Given the description of an element on the screen output the (x, y) to click on. 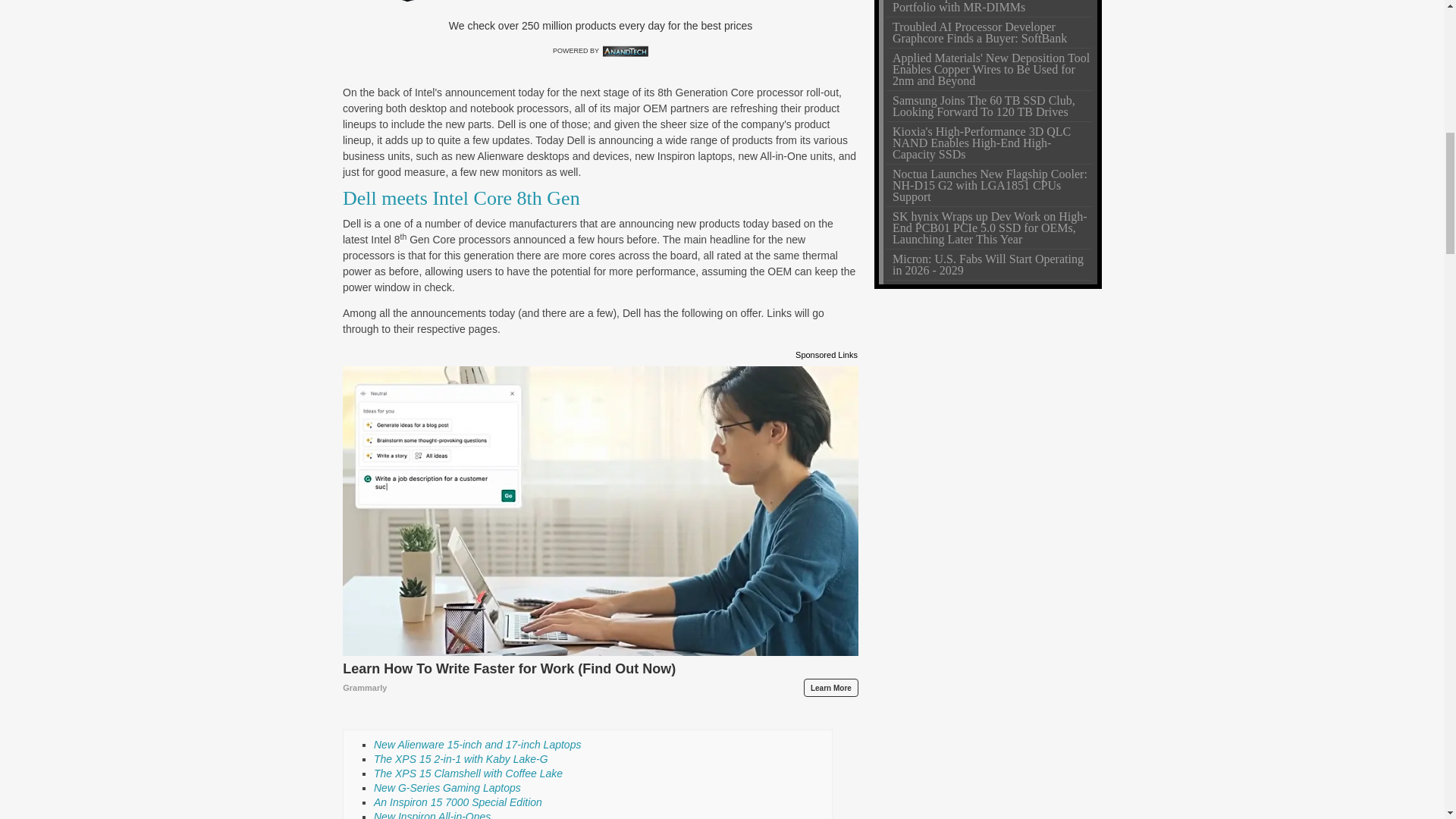
Anandtech (624, 50)
Intel Core i7-8700K Desktop... (414, 2)
